Given the description of an element on the screen output the (x, y) to click on. 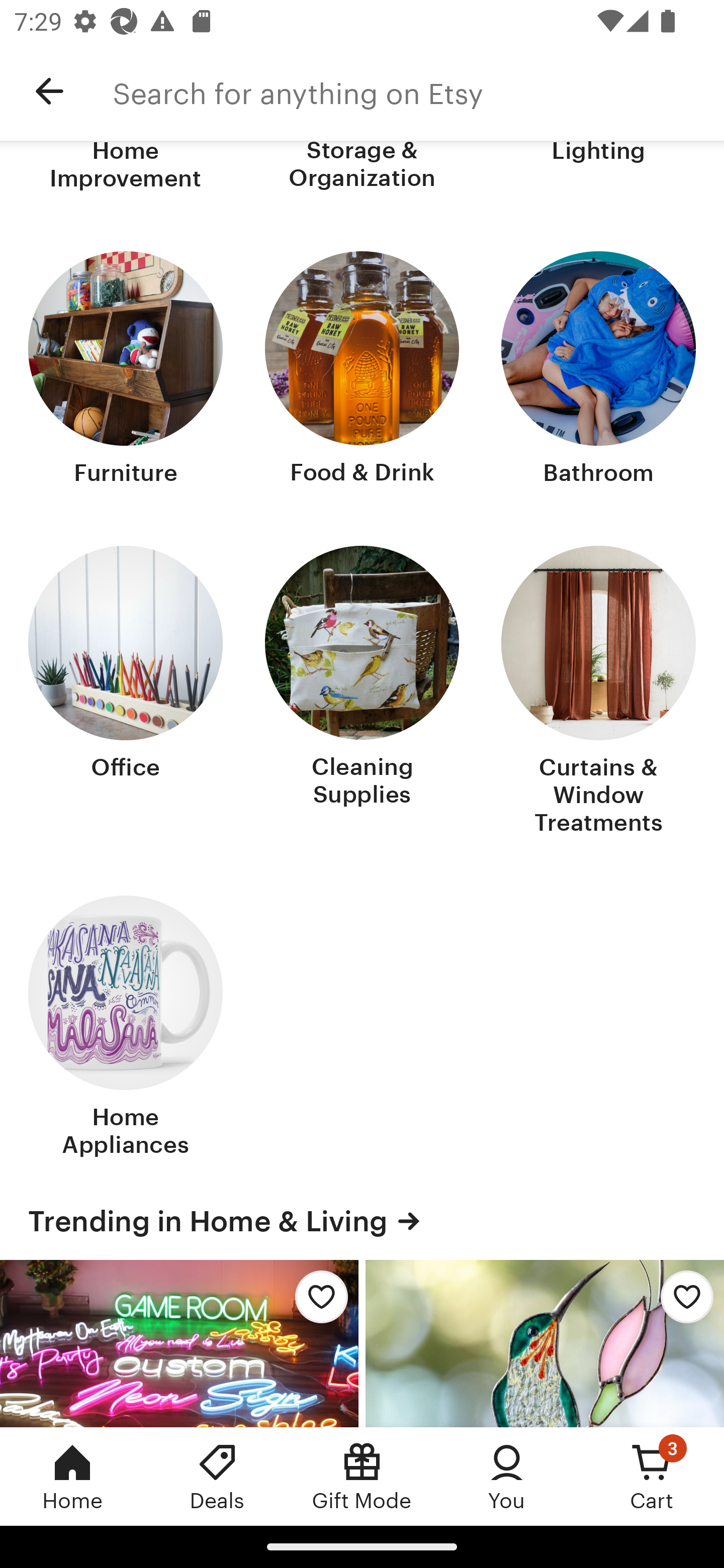
Navigate up (49, 91)
Search for anything on Etsy (418, 91)
Furniture (125, 369)
Food & Drink (361, 369)
Bathroom (598, 369)
Office (125, 691)
Cleaning Supplies (361, 691)
Curtains & Window Treatments (598, 691)
Home Appliances (125, 1028)
Trending in Home & Living  (361, 1221)
Deals (216, 1475)
Gift Mode (361, 1475)
You (506, 1475)
Cart, 3 new notifications Cart (651, 1475)
